Given the description of an element on the screen output the (x, y) to click on. 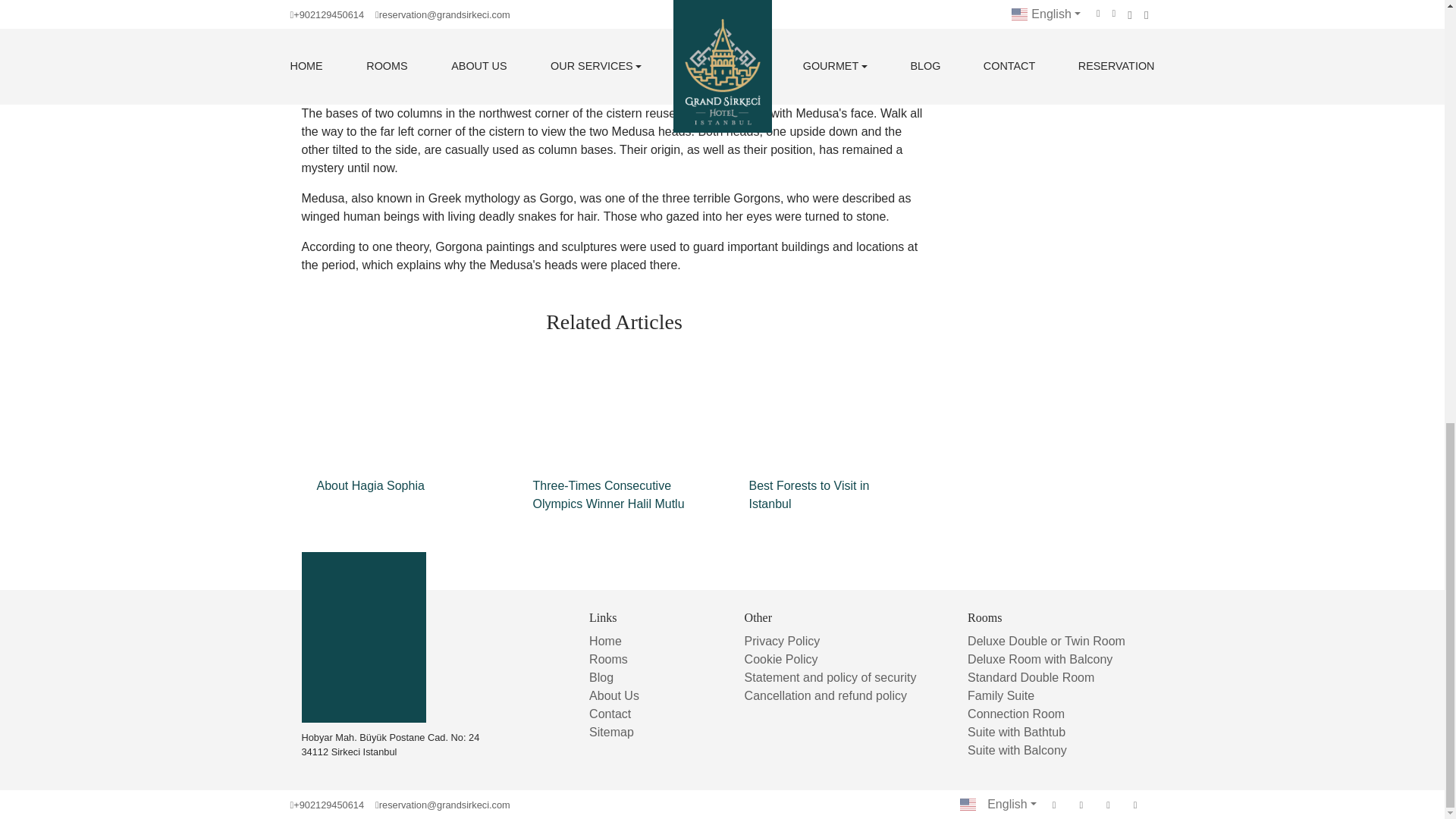
Sitemap (611, 731)
Three-Times Consecutive Olympics Winner Halil Mutlu (613, 439)
About Hagia Sophia (398, 430)
Best Forests to Visit in Istanbul (829, 439)
